Given the description of an element on the screen output the (x, y) to click on. 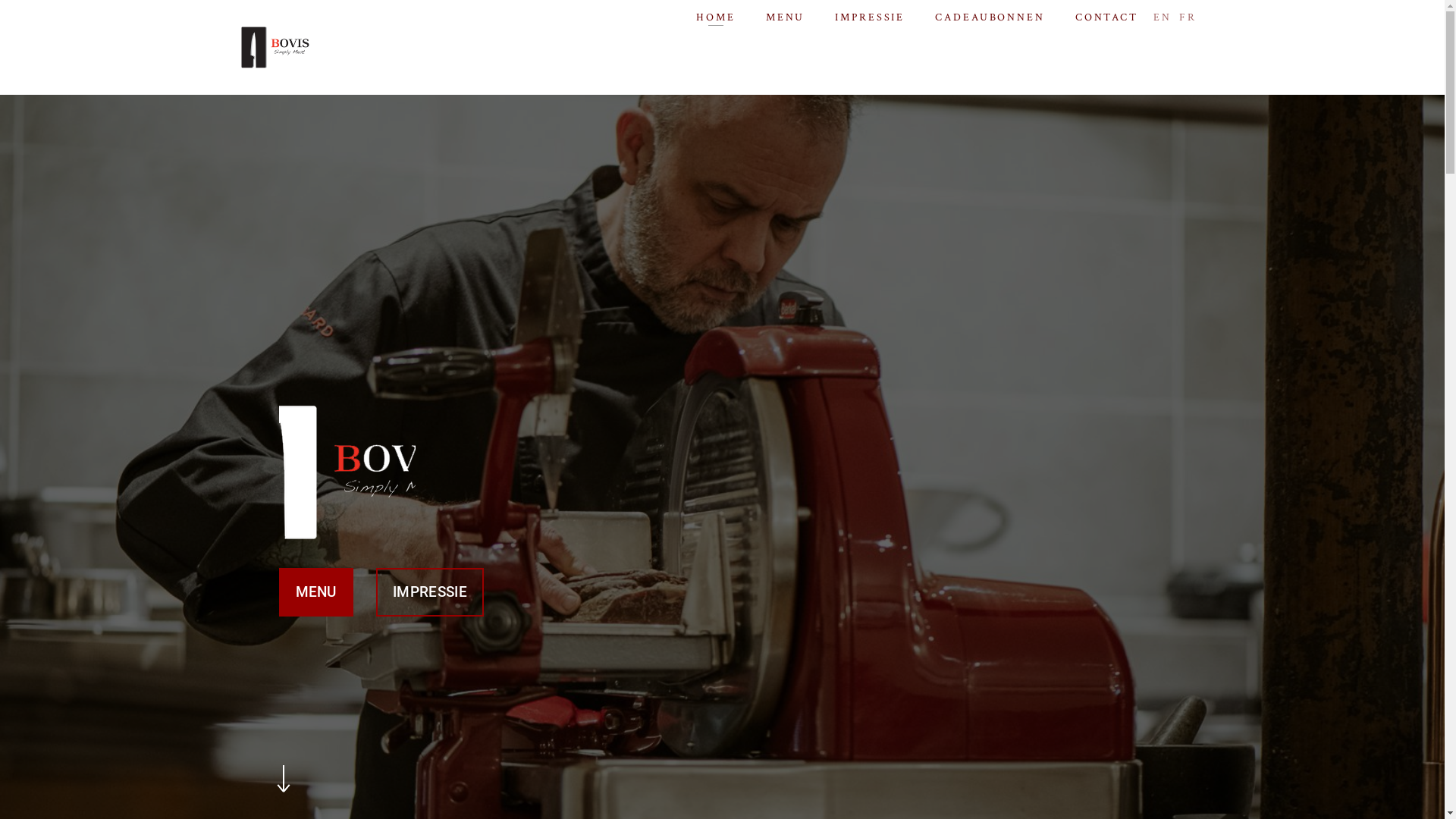
HOME Element type: text (715, 17)
IMPRESSIE Element type: text (429, 591)
MENU Element type: text (785, 17)
CADEAUBONNEN Element type: text (989, 17)
MENU Element type: text (316, 591)
CONTACT Element type: text (1106, 17)
EN Element type: text (1162, 16)
IMPRESSIE Element type: text (869, 17)
FR Element type: text (1187, 16)
